Given the description of an element on the screen output the (x, y) to click on. 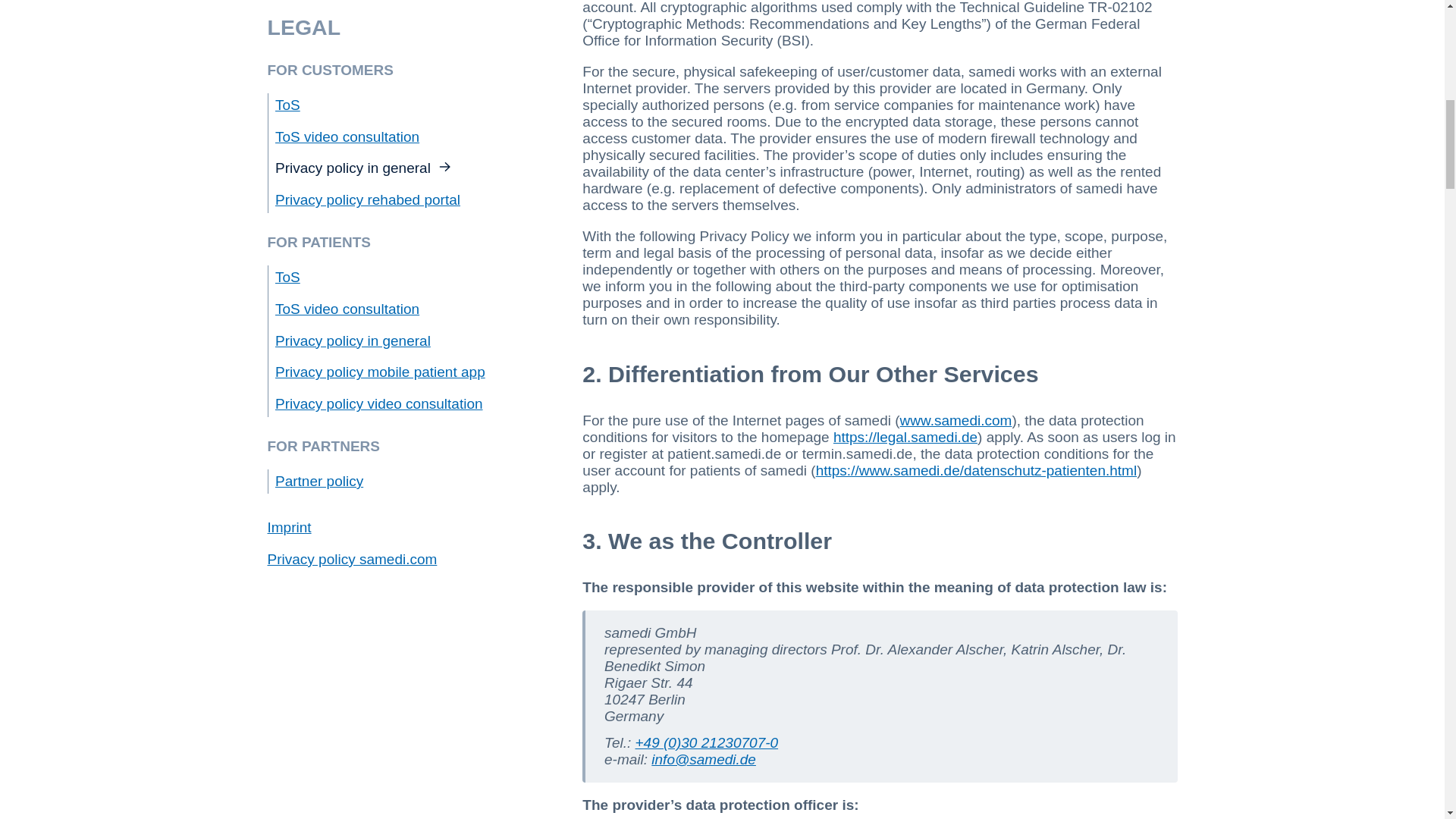
www.samedi.com (955, 420)
